Given the description of an element on the screen output the (x, y) to click on. 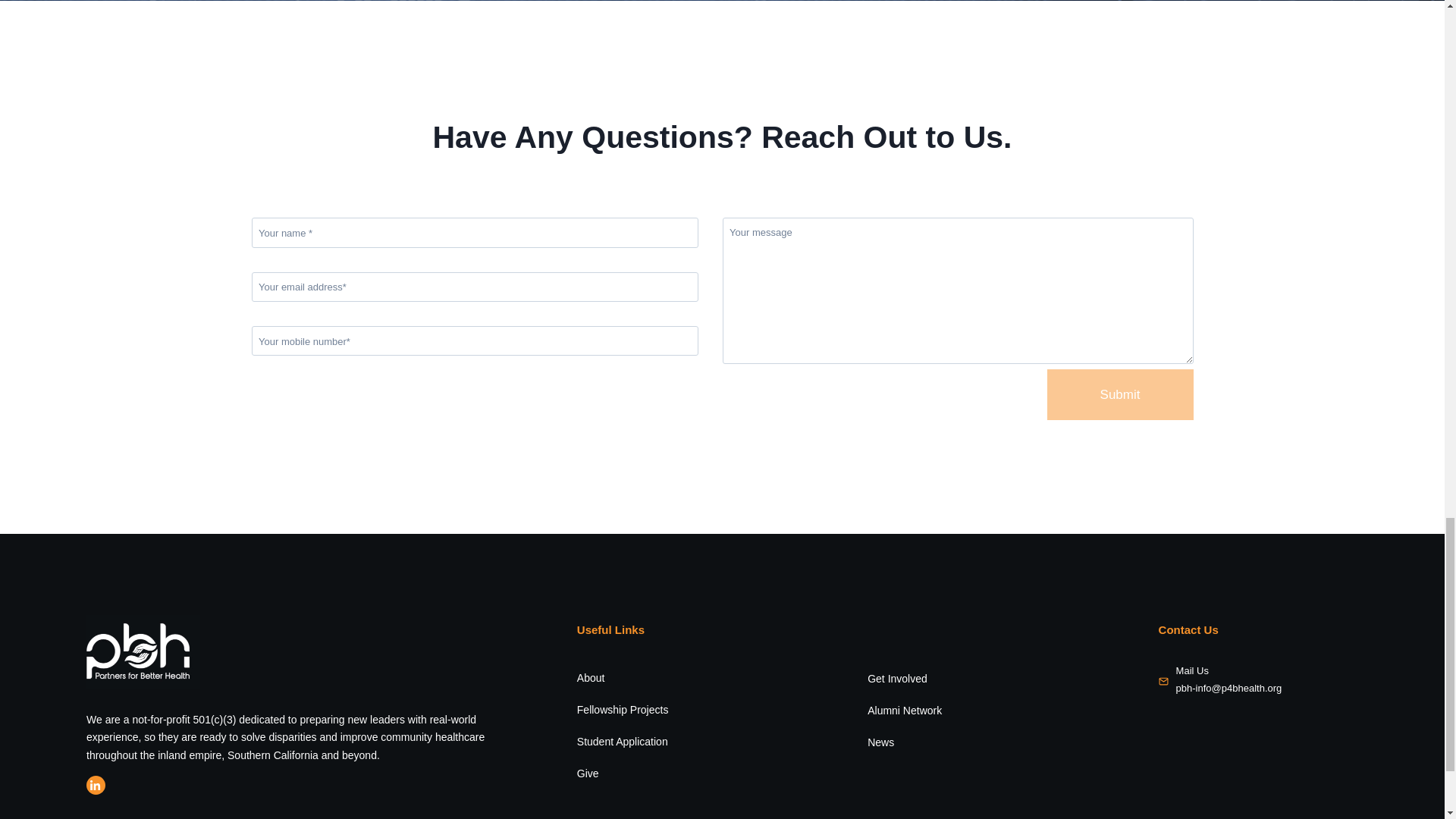
About (590, 677)
News (880, 742)
Submit (1119, 394)
Give (587, 773)
Get Involved (897, 678)
Alumni Network (904, 710)
Student Application (622, 741)
Fellowship Projects (622, 709)
Submit (1119, 394)
